Given the description of an element on the screen output the (x, y) to click on. 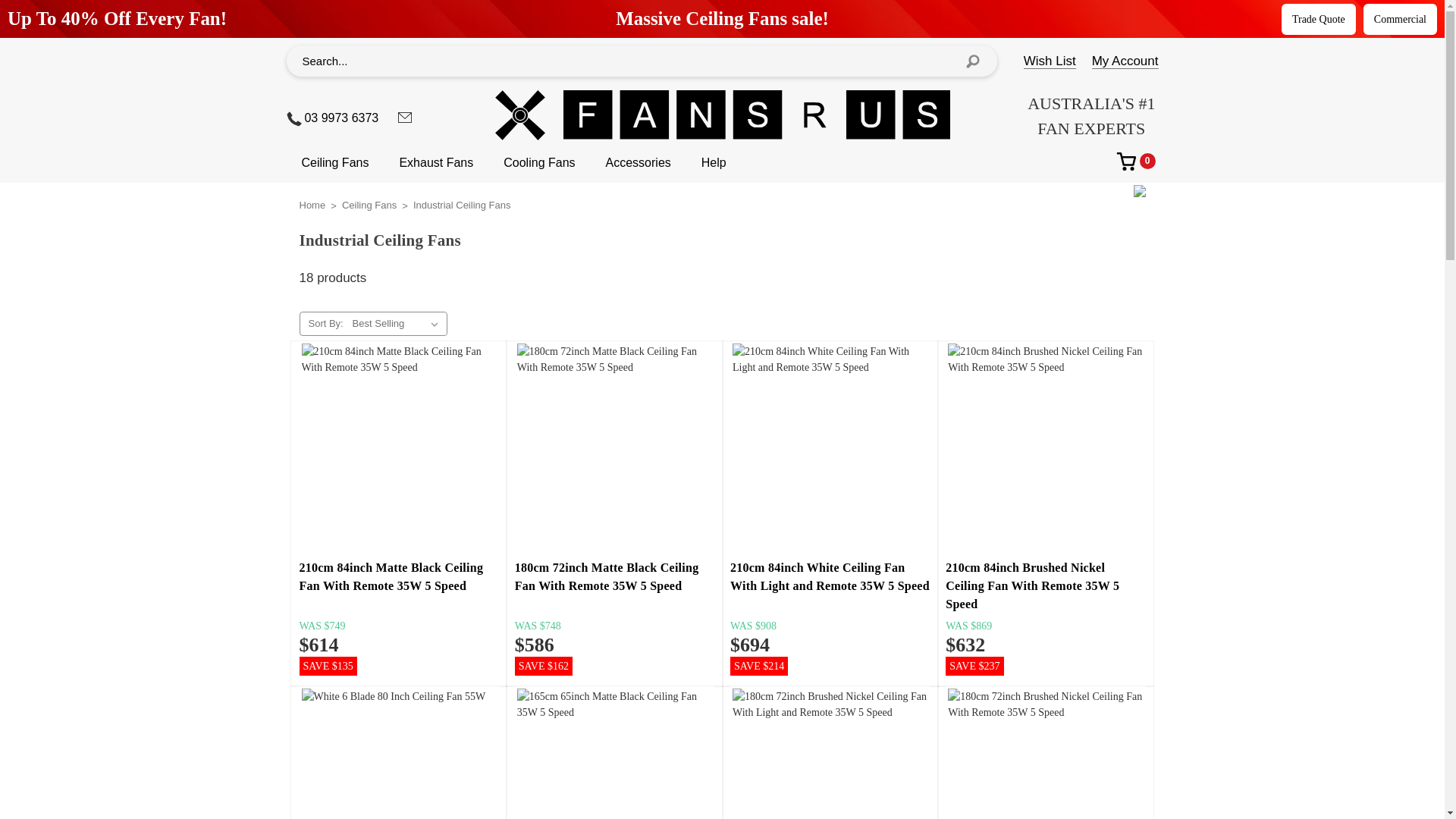
180cm 72inch Matte Black Ceiling Fan With Remote 35W 5 Speed (613, 445)
Wish List (1049, 61)
Trade Quote (1318, 18)
My Account (1125, 61)
165cm 65inch Matte Black Ceiling Fan 35W 5 Speed (613, 753)
Commercial (1399, 18)
210cm 84inch Matte Black Ceiling Fan With Remote 35W 5 Speed (398, 445)
White 6 Blade 80 Inch Ceiling Fan 55W (398, 753)
